Given the description of an element on the screen output the (x, y) to click on. 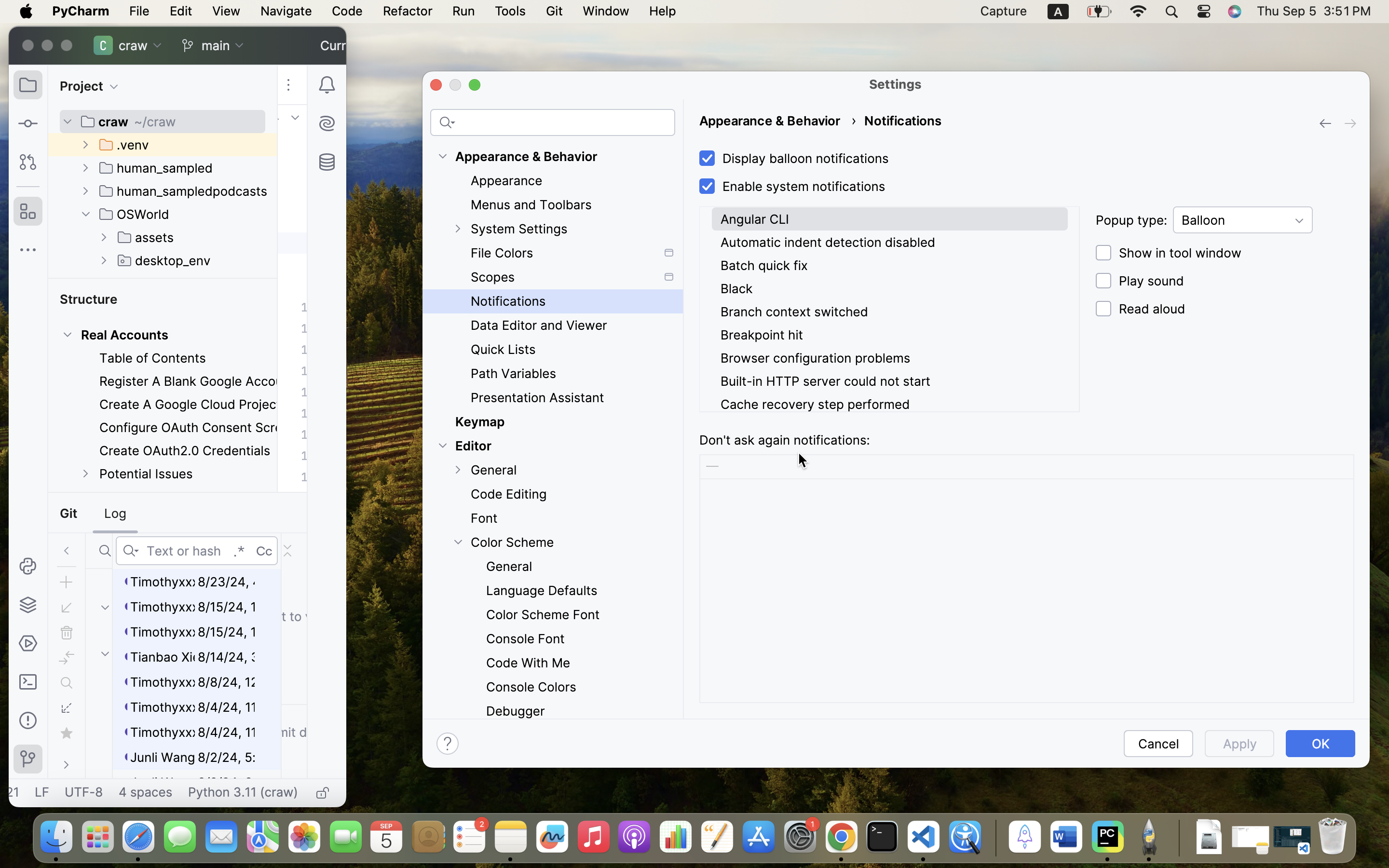
Don't ask again notifications: Element type: AXStaticText (784, 440)
Popup type: Element type: AXStaticText (1131, 220)
1 Element type: AXCheckBox (791, 158)
0.4285714328289032 Element type: AXDockItem (993, 837)
